Given the description of an element on the screen output the (x, y) to click on. 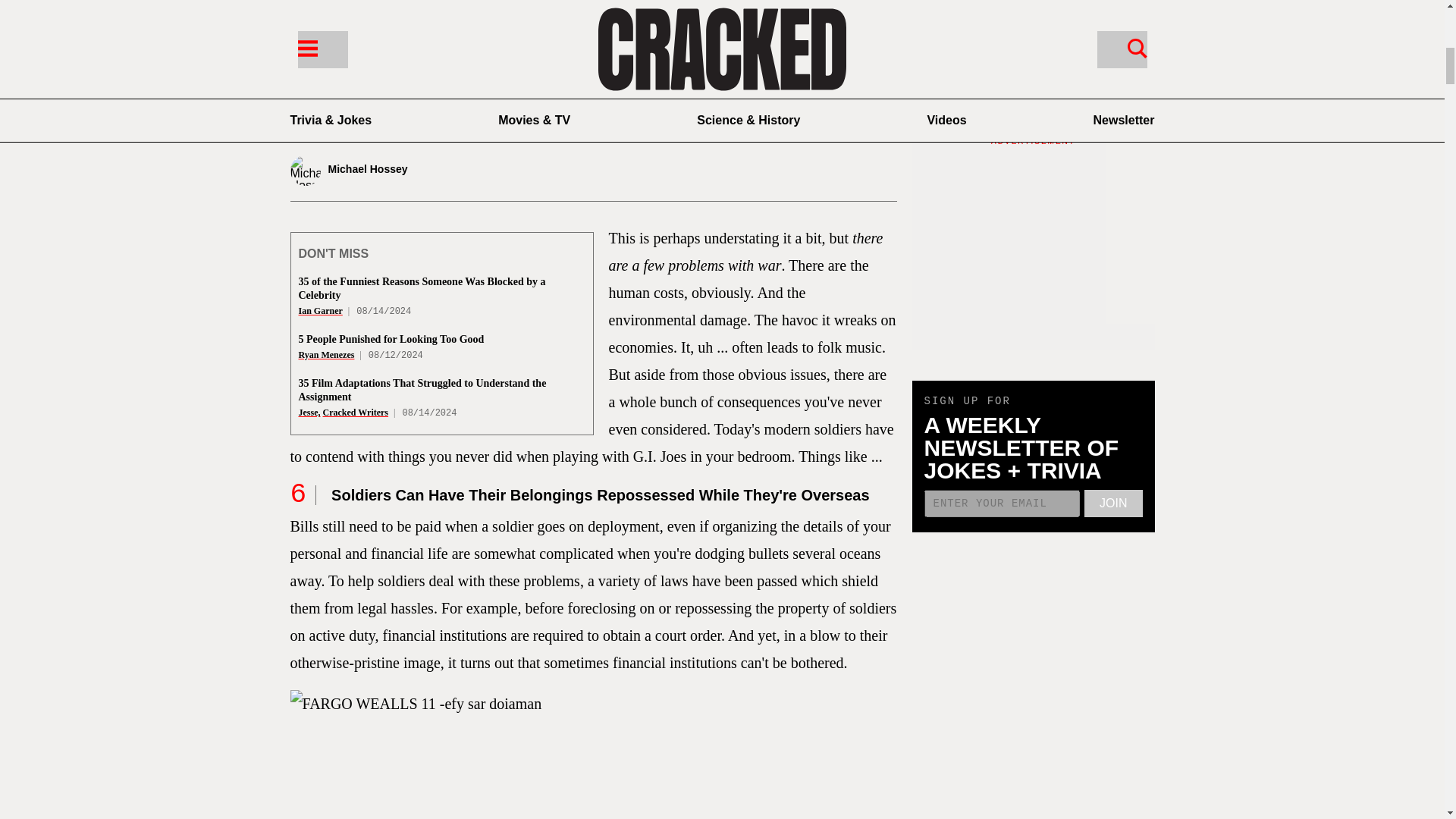
5 People Punished for Looking Too Good (391, 338)
Michael Hossey (387, 170)
Ryan Menezes (326, 354)
Ian Garner (320, 310)
Jesse, (309, 412)
